Given the description of an element on the screen output the (x, y) to click on. 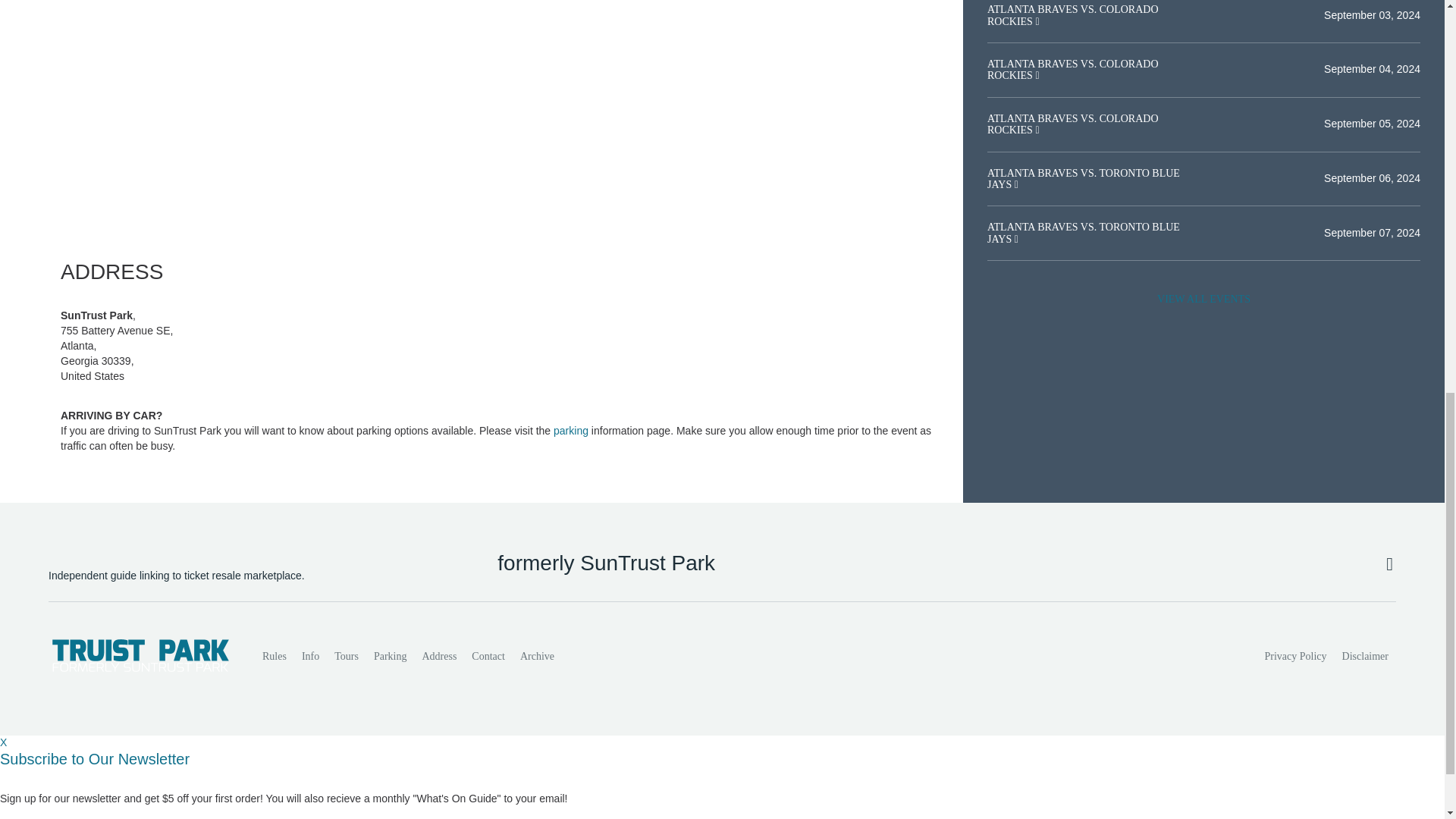
Archive (537, 656)
parking (570, 430)
VIEW ALL EVENTS (1203, 299)
Contact (488, 656)
Tours (346, 656)
Address (438, 656)
Rules (274, 656)
Disclaimer (1365, 656)
Privacy Policy (1296, 656)
Info (310, 656)
